Given the description of an element on the screen output the (x, y) to click on. 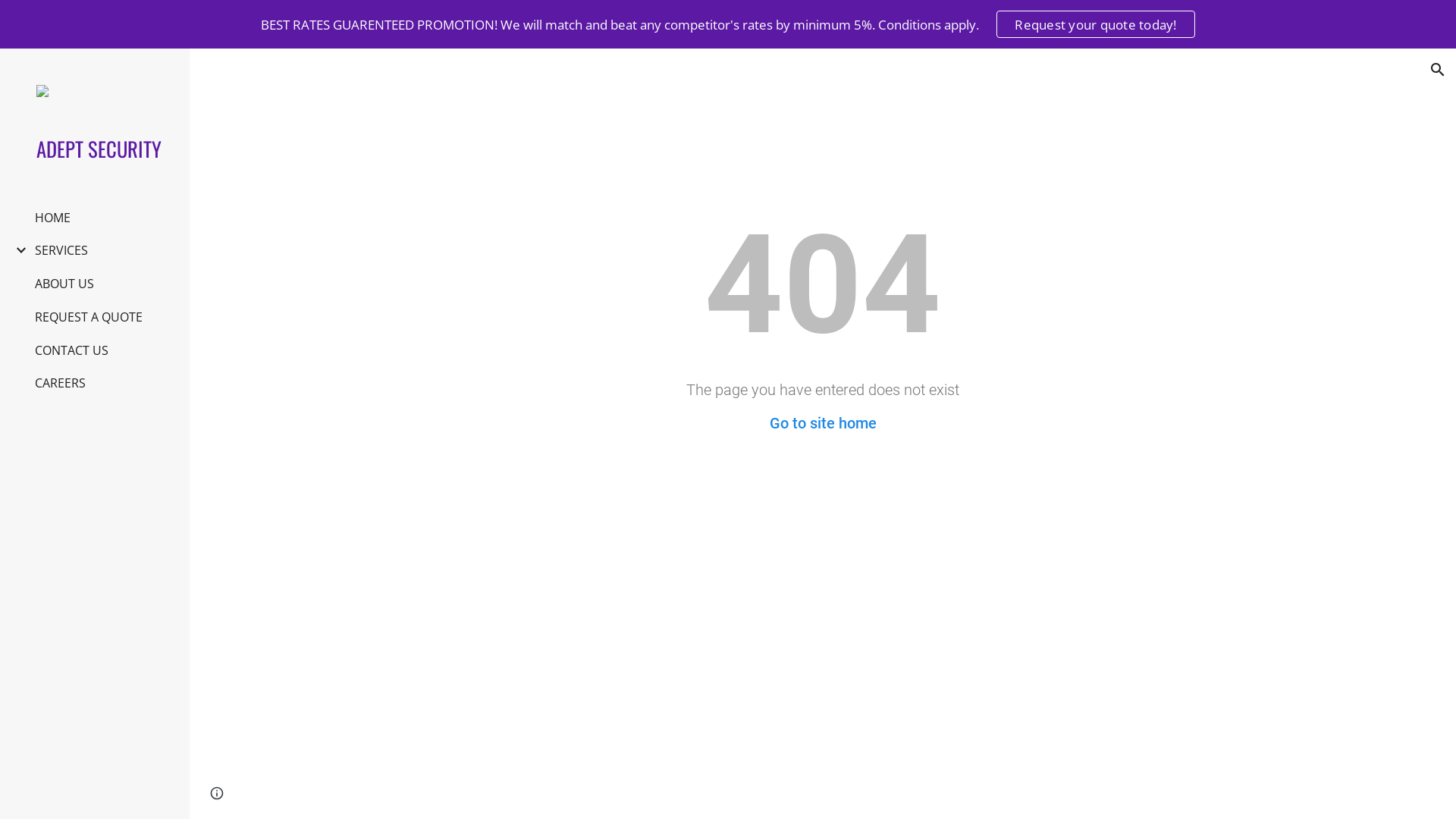
SERVICES Element type: text (61, 249)
HOME Element type: text (52, 217)
CAREERS Element type: text (60, 382)
Expand/Collapse Element type: hover (16, 250)
REQUEST A QUOTE Element type: text (88, 316)
ABOUT US Element type: text (64, 283)
Go to site home Element type: text (821, 423)
CONTACT US Element type: text (71, 350)
ADEPT SECURITY Element type: text (100, 148)
Request your quote today! Element type: text (1095, 24)
